Given the description of an element on the screen output the (x, y) to click on. 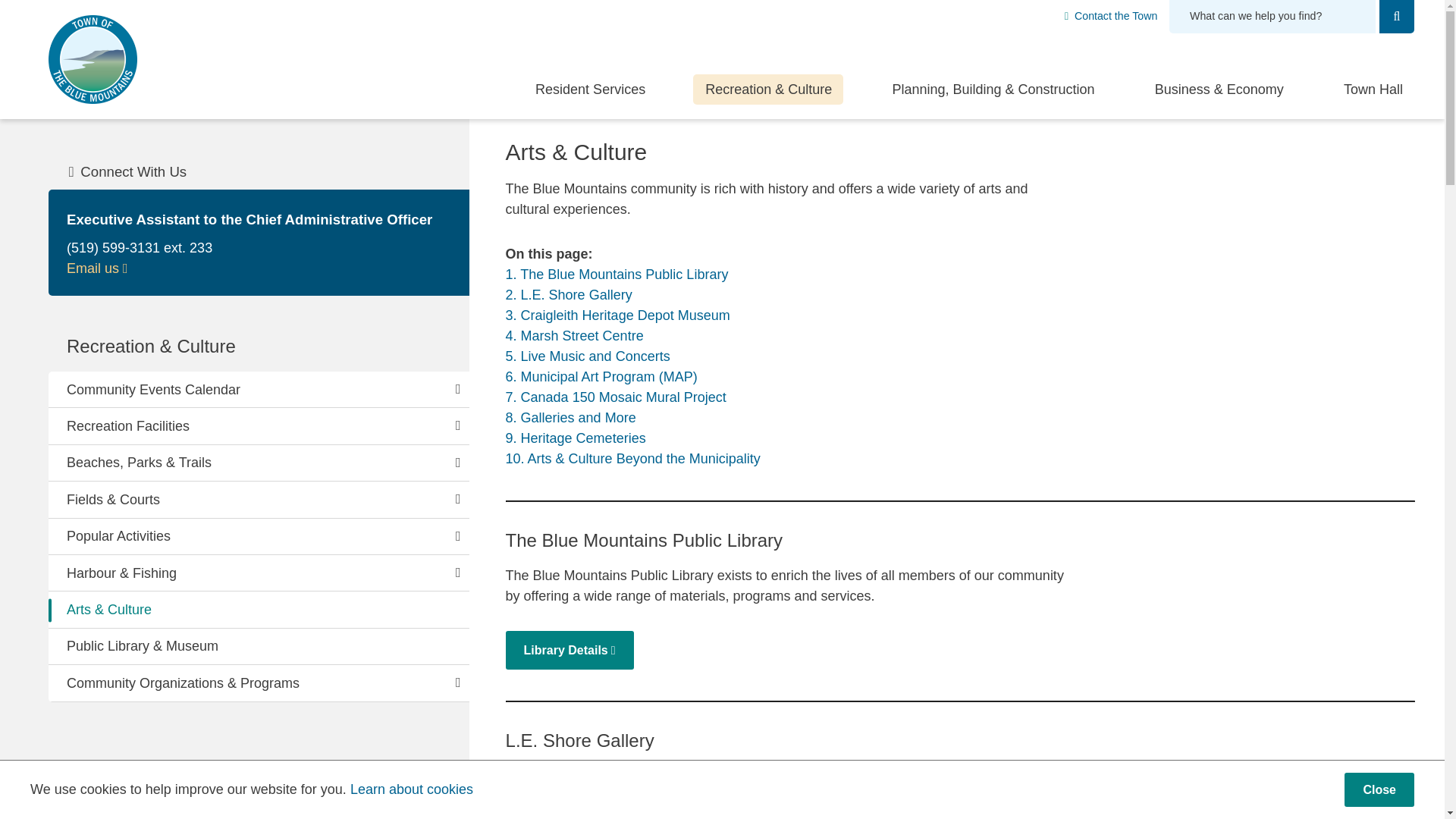
Contact the Town (1110, 15)
Close (1378, 789)
Executive Assistant to the Chief Administrative Officer (97, 268)
Learn about cookies (411, 789)
Resident Services (589, 89)
